Given the description of an element on the screen output the (x, y) to click on. 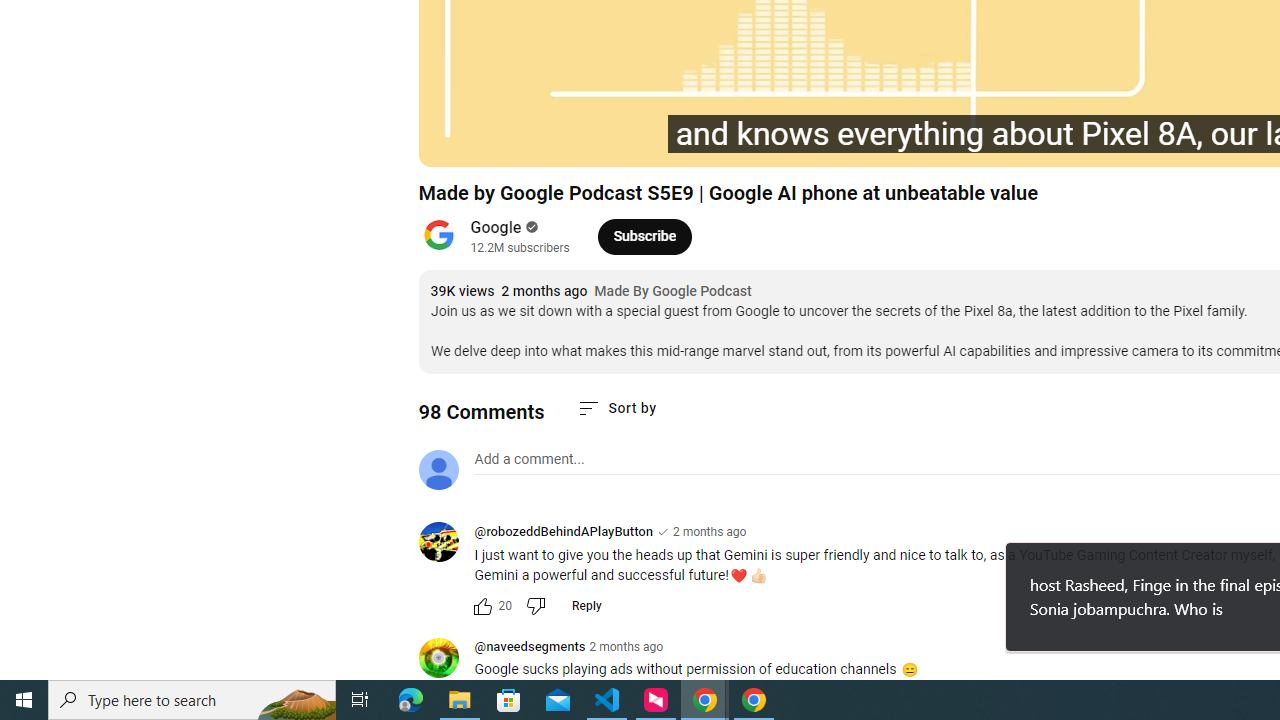
@robozeddBehindAPlayButton (446, 543)
Like this comment along with 20 other people (482, 605)
Reply (586, 605)
AutomationID: simplebox-placeholder (528, 459)
Verified (530, 227)
@robozeddBehindAPlayButton (562, 531)
